Given the description of an element on the screen output the (x, y) to click on. 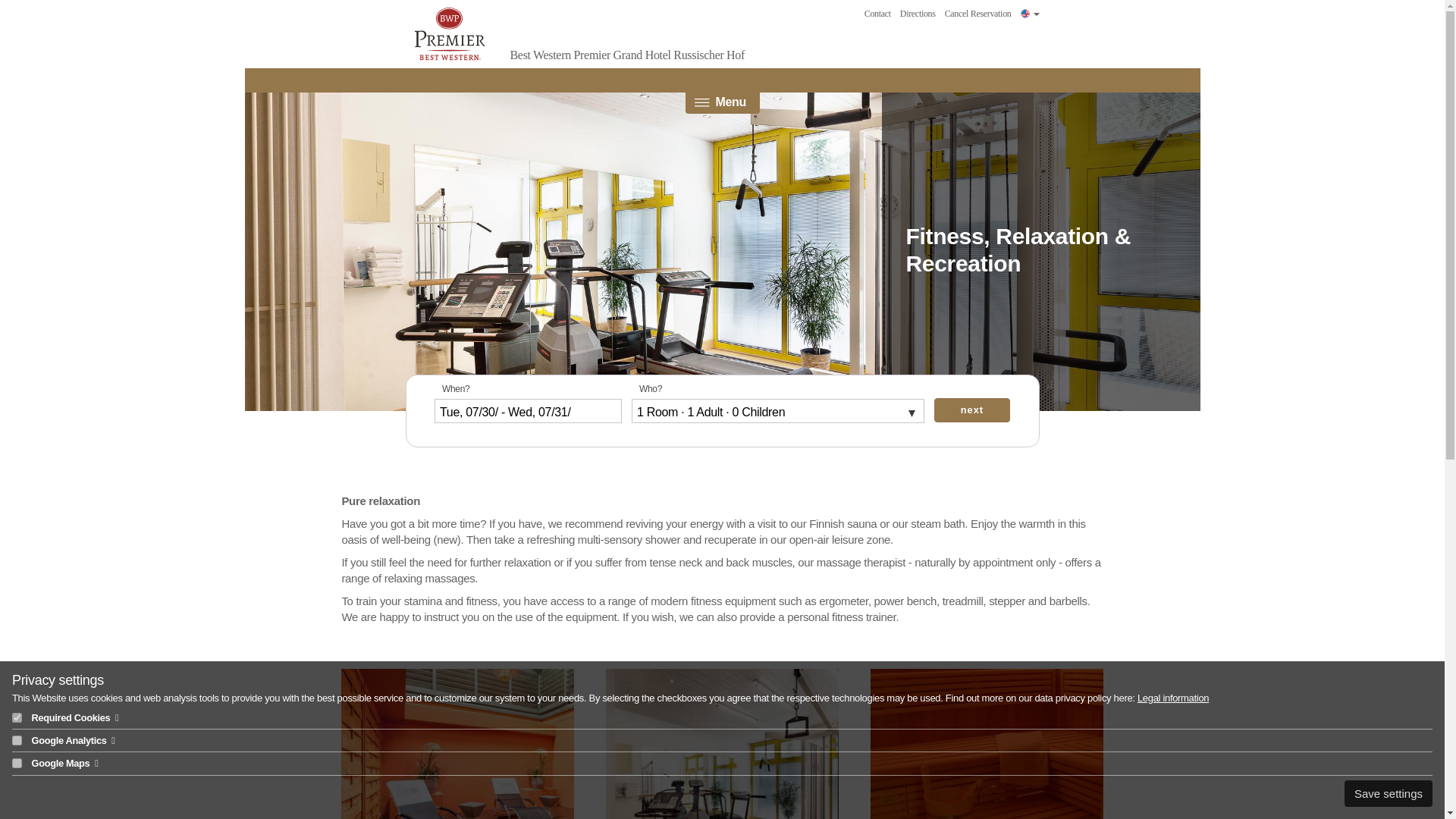
Menu (722, 90)
Directions (917, 13)
Contact (877, 13)
Cancel Reservation (977, 13)
next (972, 410)
on (16, 717)
on (16, 763)
Navigation anzeigen (722, 90)
Contact (877, 13)
Directions (917, 13)
Save settings (1387, 793)
on (16, 740)
